Given the description of an element on the screen output the (x, y) to click on. 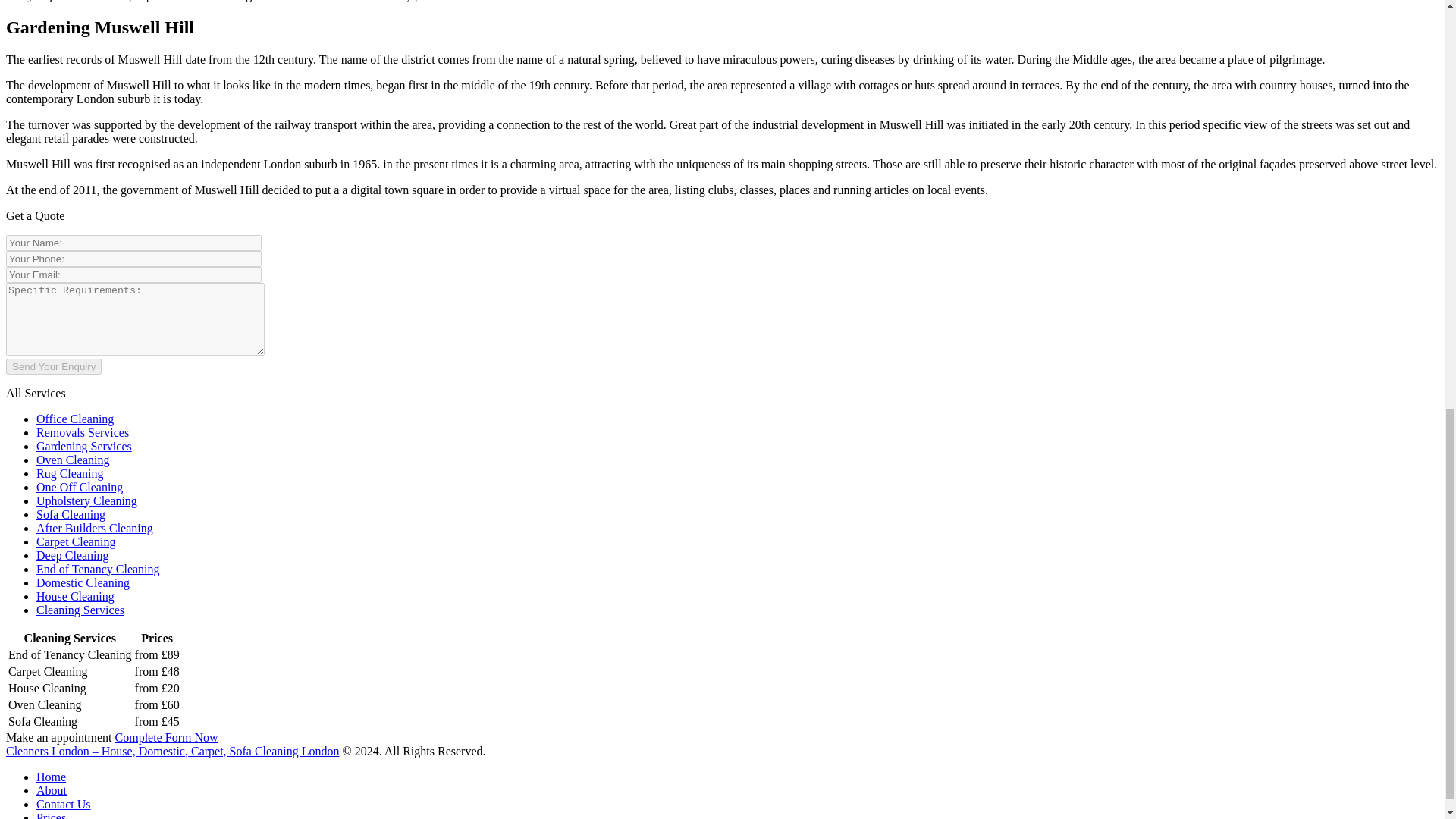
Deep Cleaning (72, 554)
Gardening Services (84, 445)
Contact Us (63, 803)
Home (50, 776)
House Cleaning (75, 595)
One Off Cleaning (79, 486)
Domestic Cleaning (82, 582)
End of Tenancy Cleaning (98, 568)
Office Cleaning (74, 418)
Upholstery Cleaning (86, 500)
Cleaning Services (79, 609)
Send Your Enquiry (53, 365)
About (51, 789)
Oven Cleaning (72, 459)
Sofa Cleaning (70, 513)
